Given the description of an element on the screen output the (x, y) to click on. 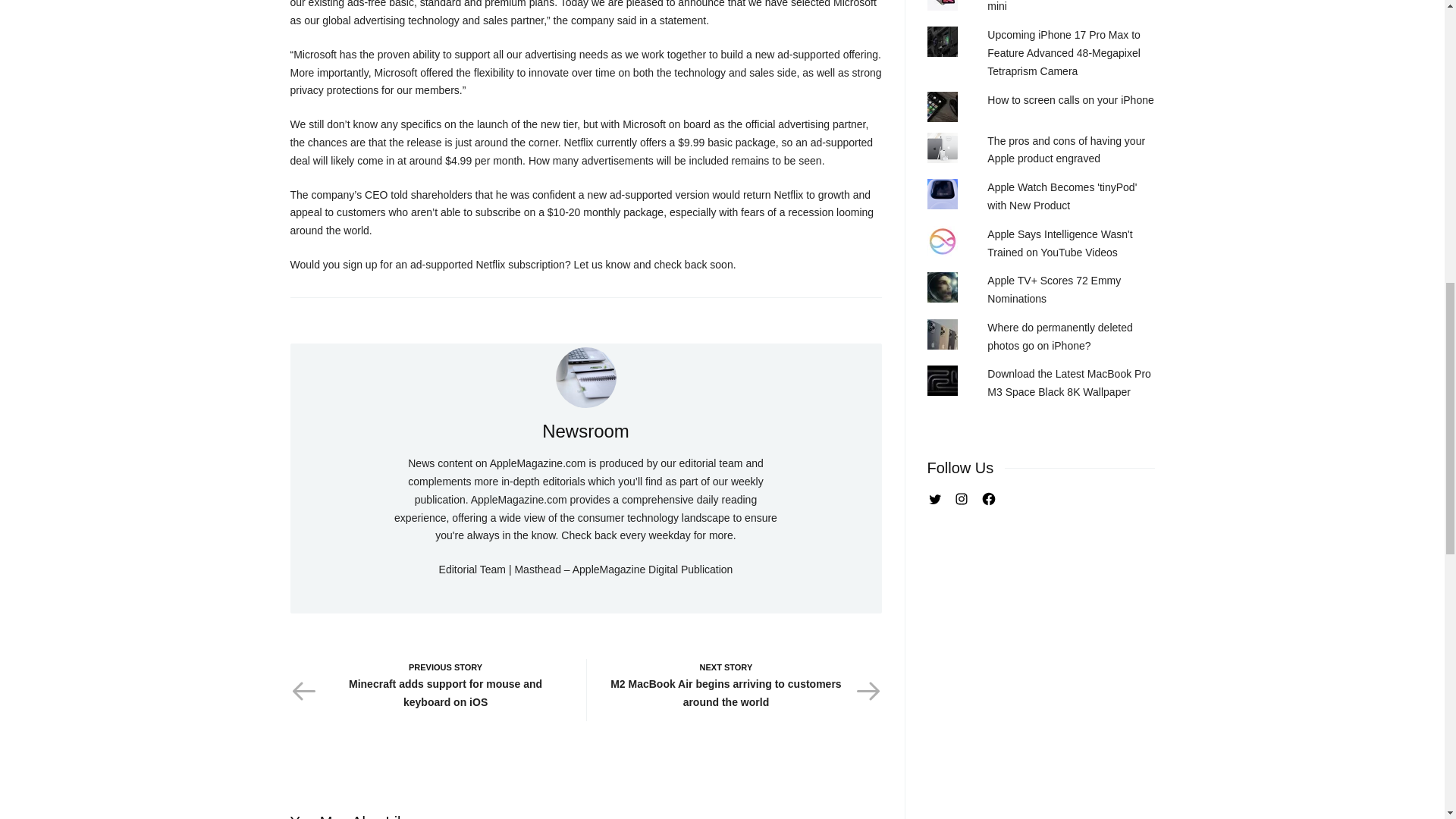
Newsroom (584, 377)
Newsroom (584, 430)
Newsroom (584, 430)
